Given the description of an element on the screen output the (x, y) to click on. 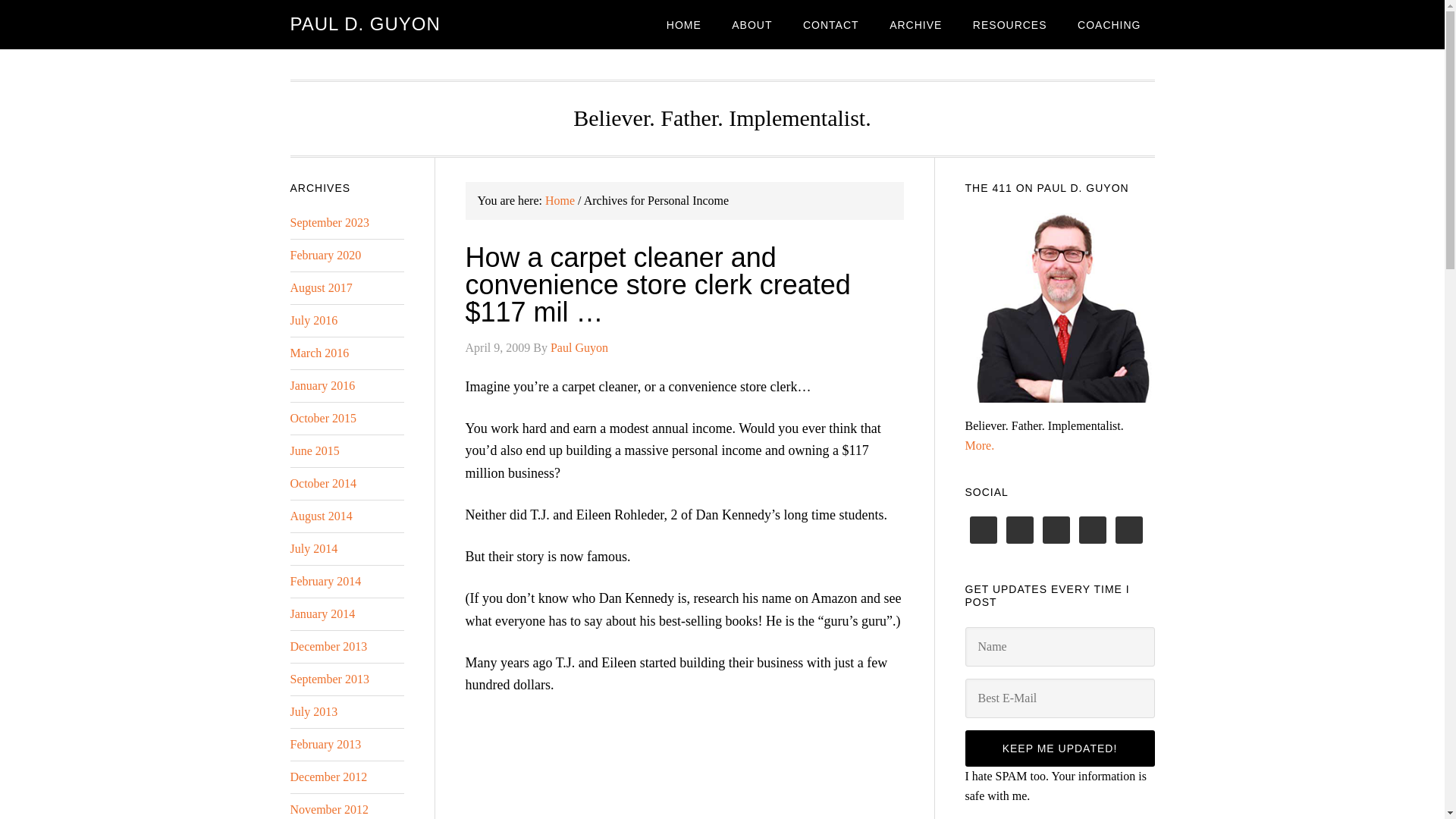
Keep me updated! (1058, 748)
January 2016 (322, 385)
June 2015 (314, 450)
October 2015 (322, 418)
More. (978, 445)
February 2014 (325, 581)
December 2013 (327, 645)
Paul Guyon (579, 347)
September 2013 (328, 678)
PAUL D. GUYON (364, 23)
